Given the description of an element on the screen output the (x, y) to click on. 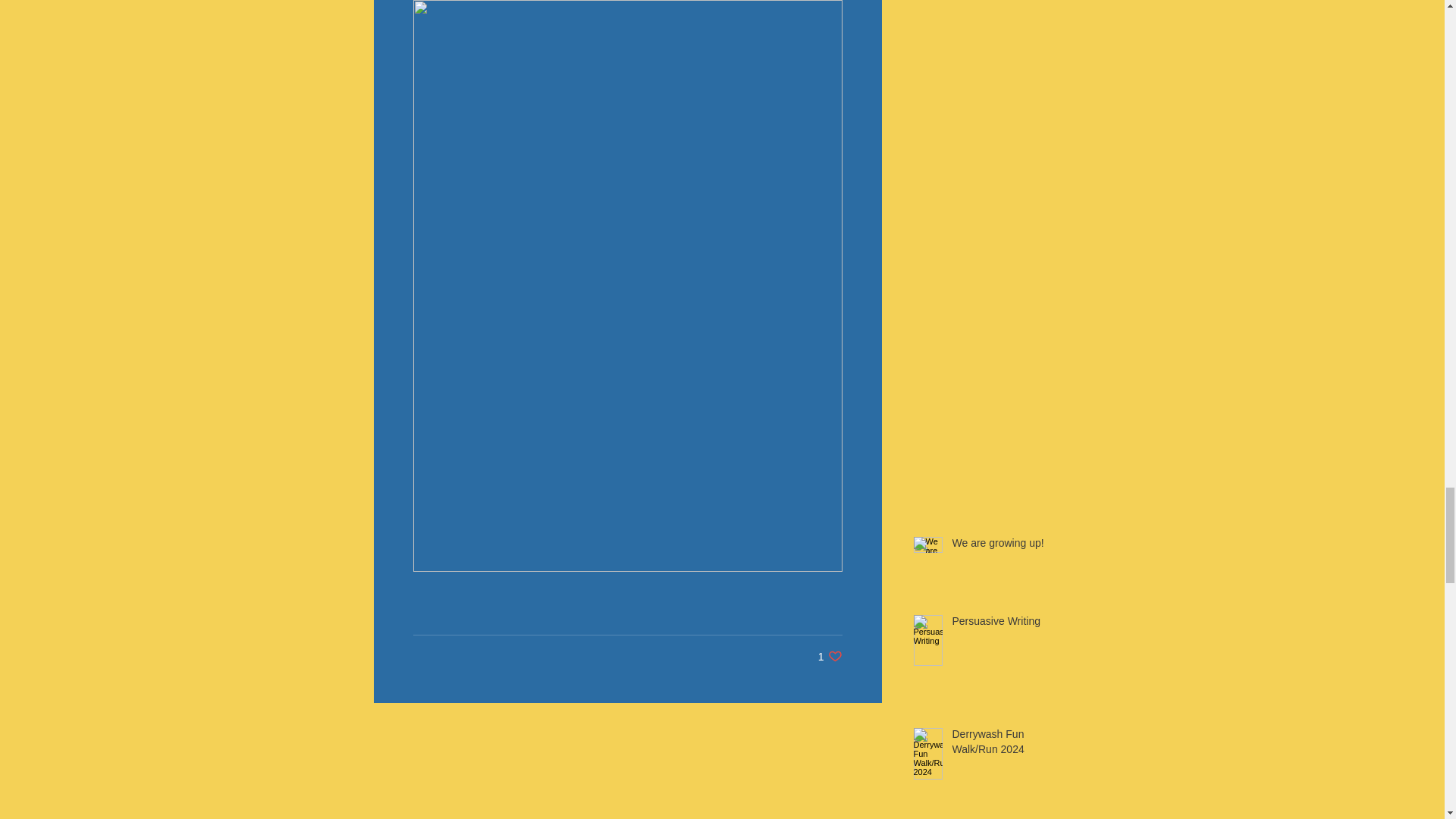
Persuasive Writing (830, 656)
We are growing up! (1006, 624)
